Given the description of an element on the screen output the (x, y) to click on. 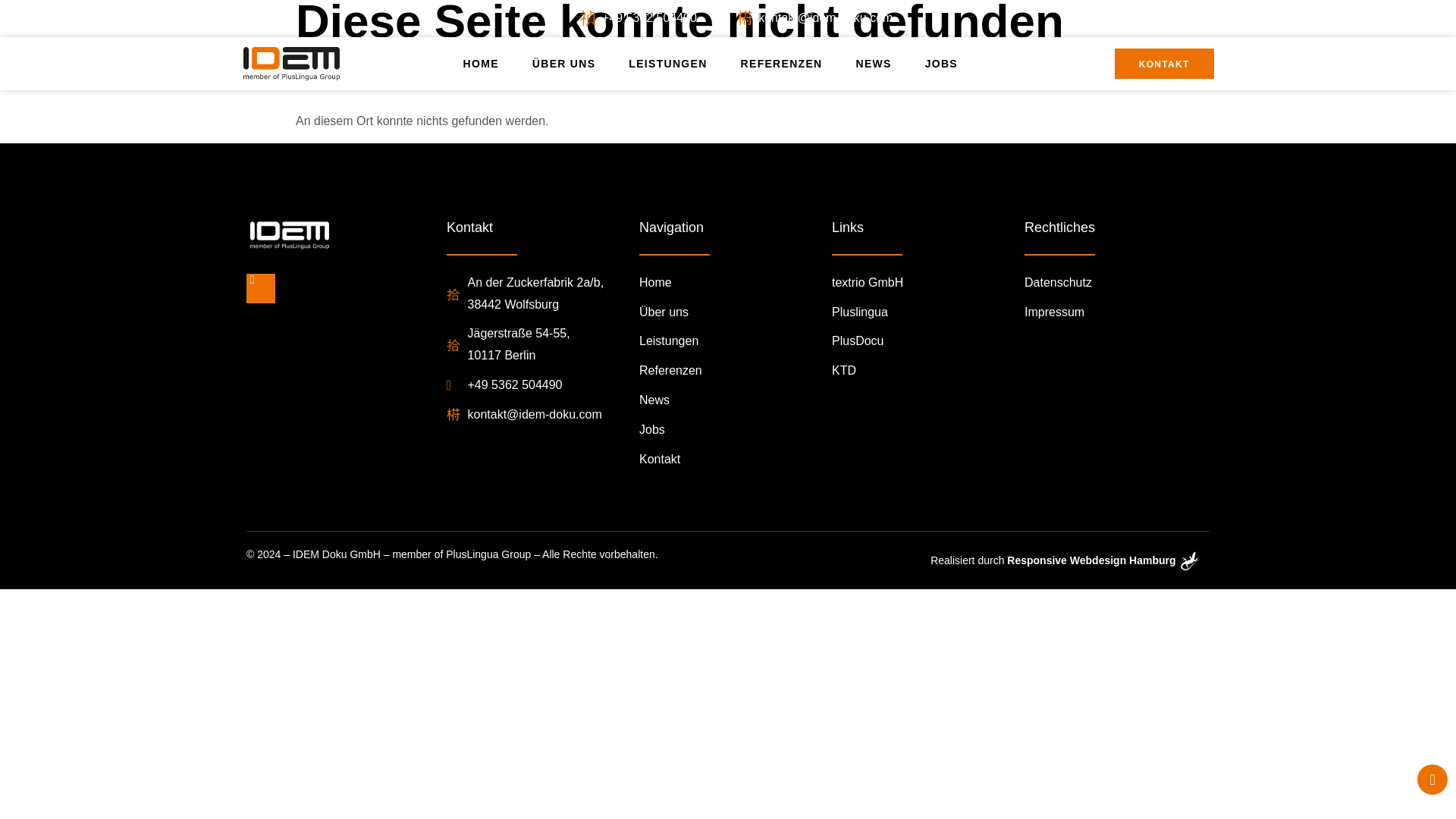
Impressum (1117, 312)
News (731, 400)
REFERENZEN (781, 63)
HOME (480, 63)
Jobs (731, 430)
Home (731, 282)
Pluslingua (923, 312)
Datenschutz (1117, 282)
JOBS (941, 63)
Kontakt (731, 459)
